Given the description of an element on the screen output the (x, y) to click on. 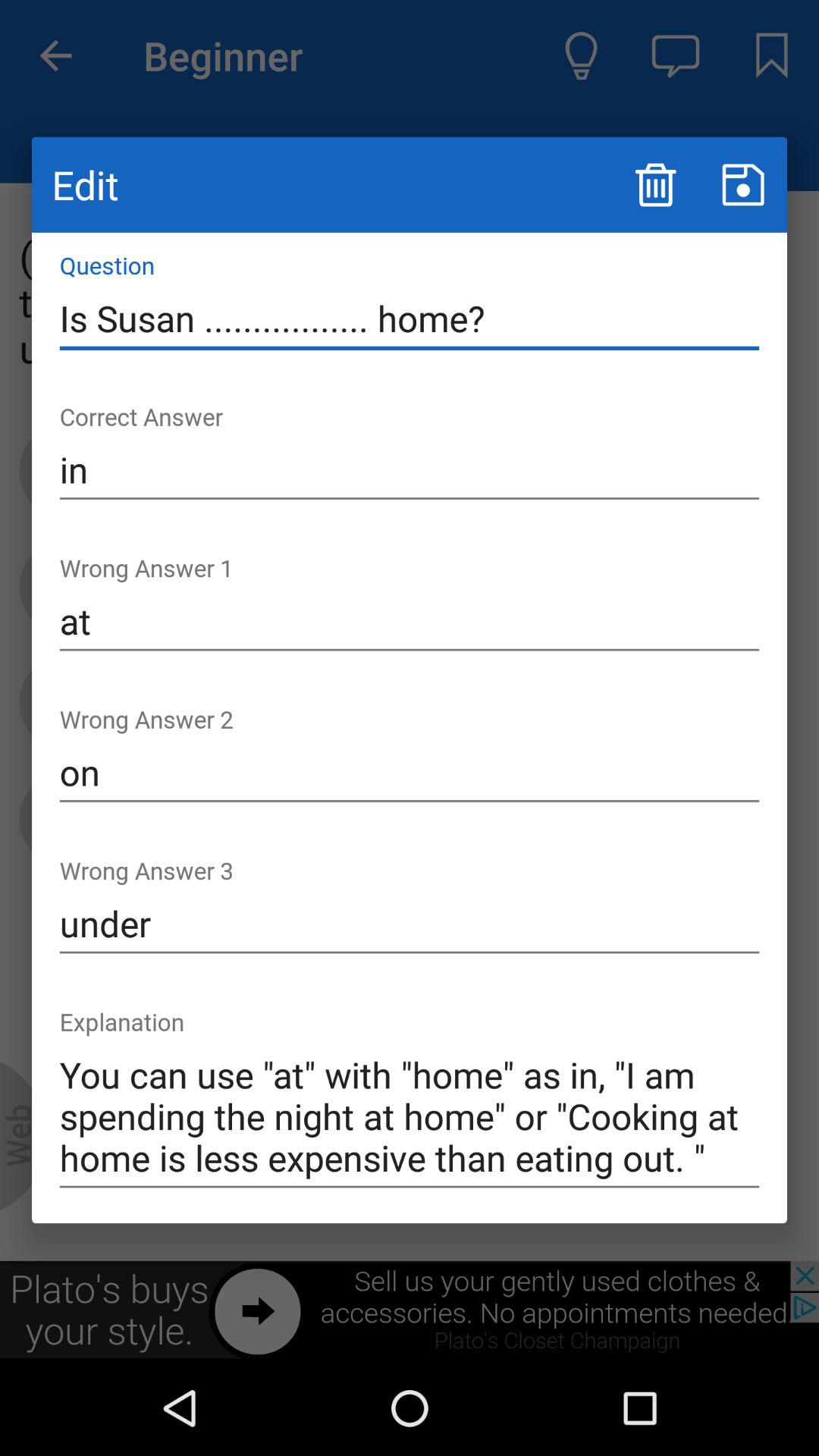
turn off the you can use icon (409, 1116)
